Given the description of an element on the screen output the (x, y) to click on. 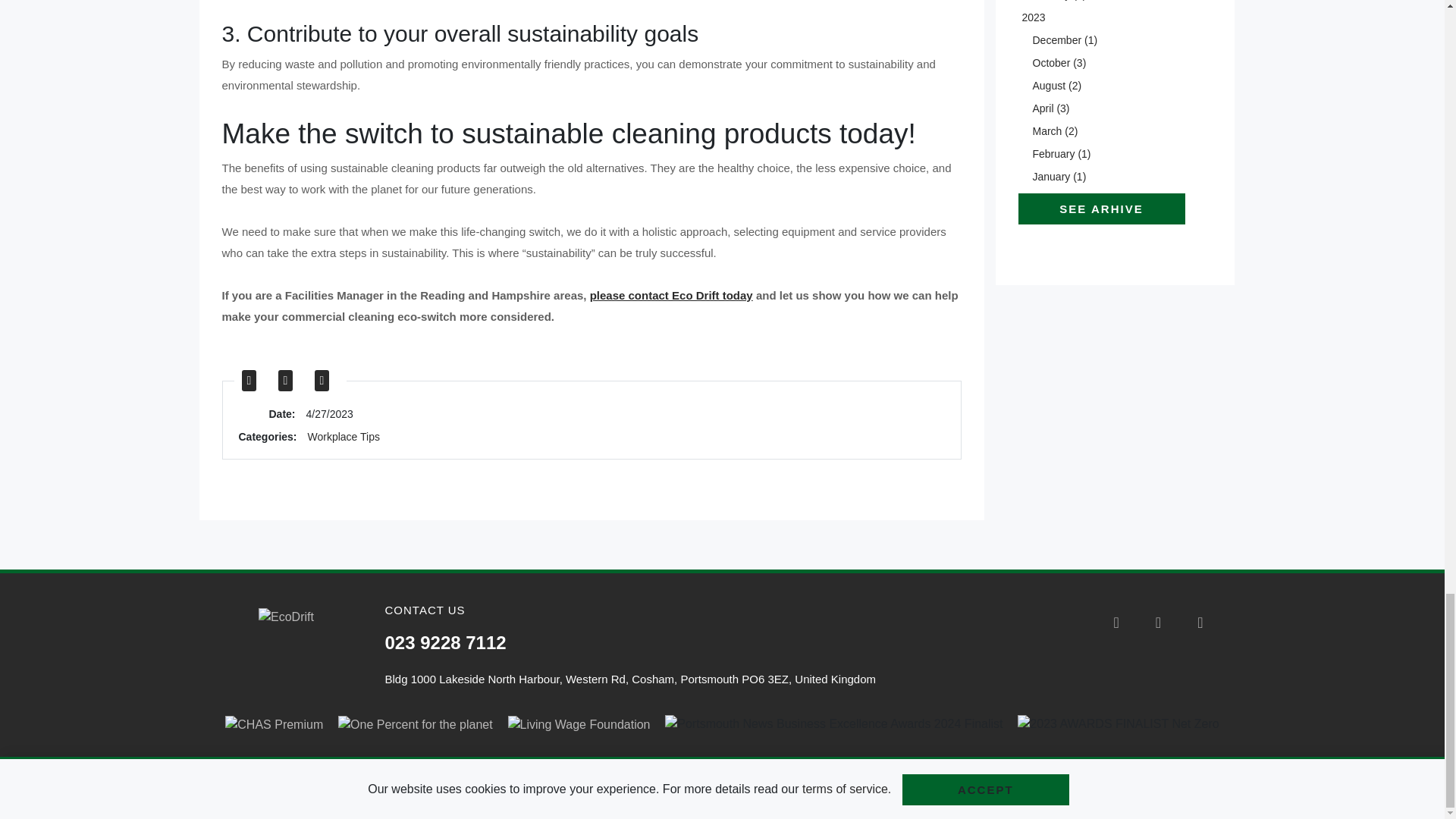
Twitter (289, 380)
please contact Eco Drift today (670, 295)
Facebook (252, 380)
Workplace Tips (343, 436)
LinkedIn (325, 380)
